Given the description of an element on the screen output the (x, y) to click on. 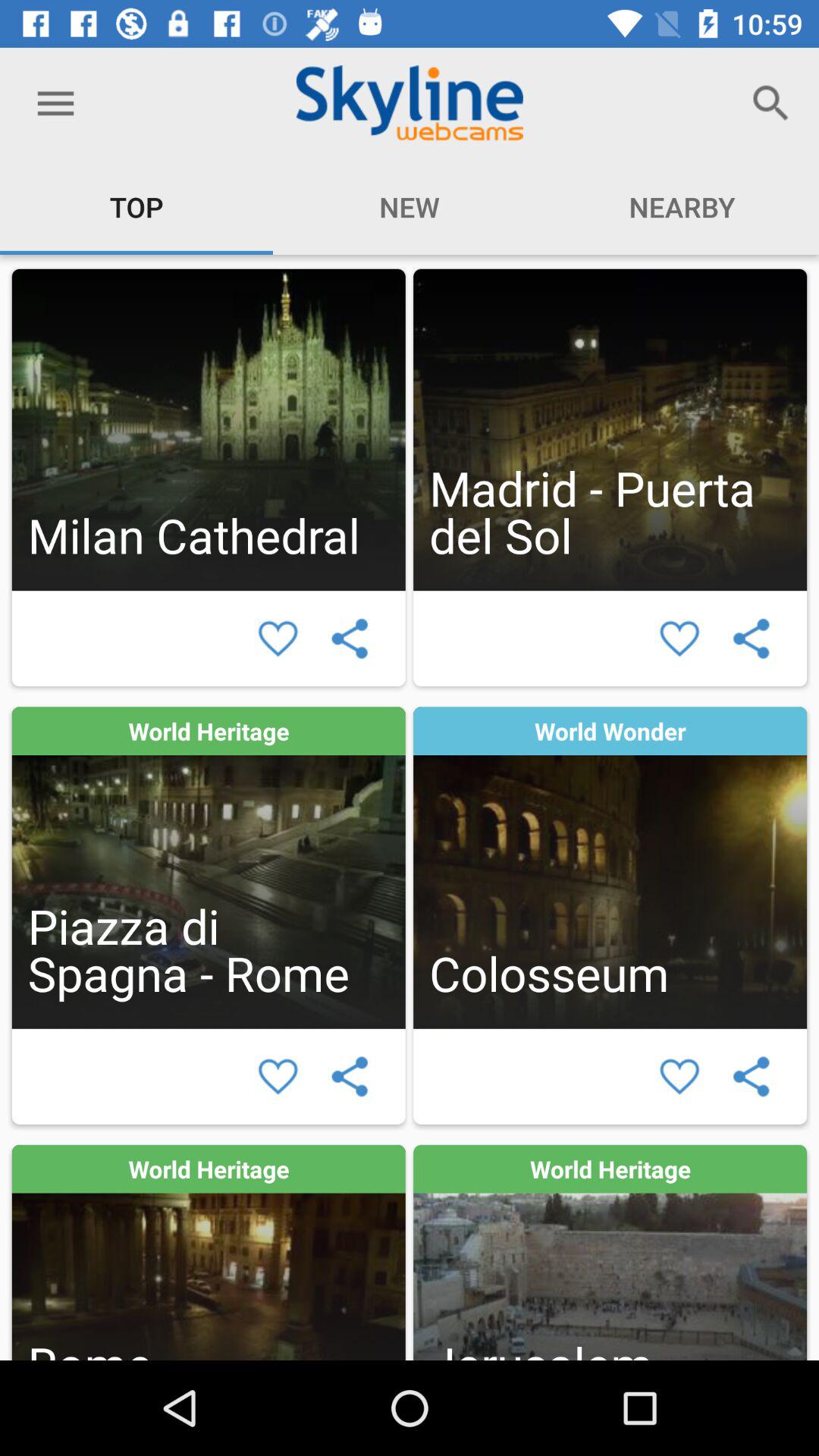
enjoy (679, 638)
